Given the description of an element on the screen output the (x, y) to click on. 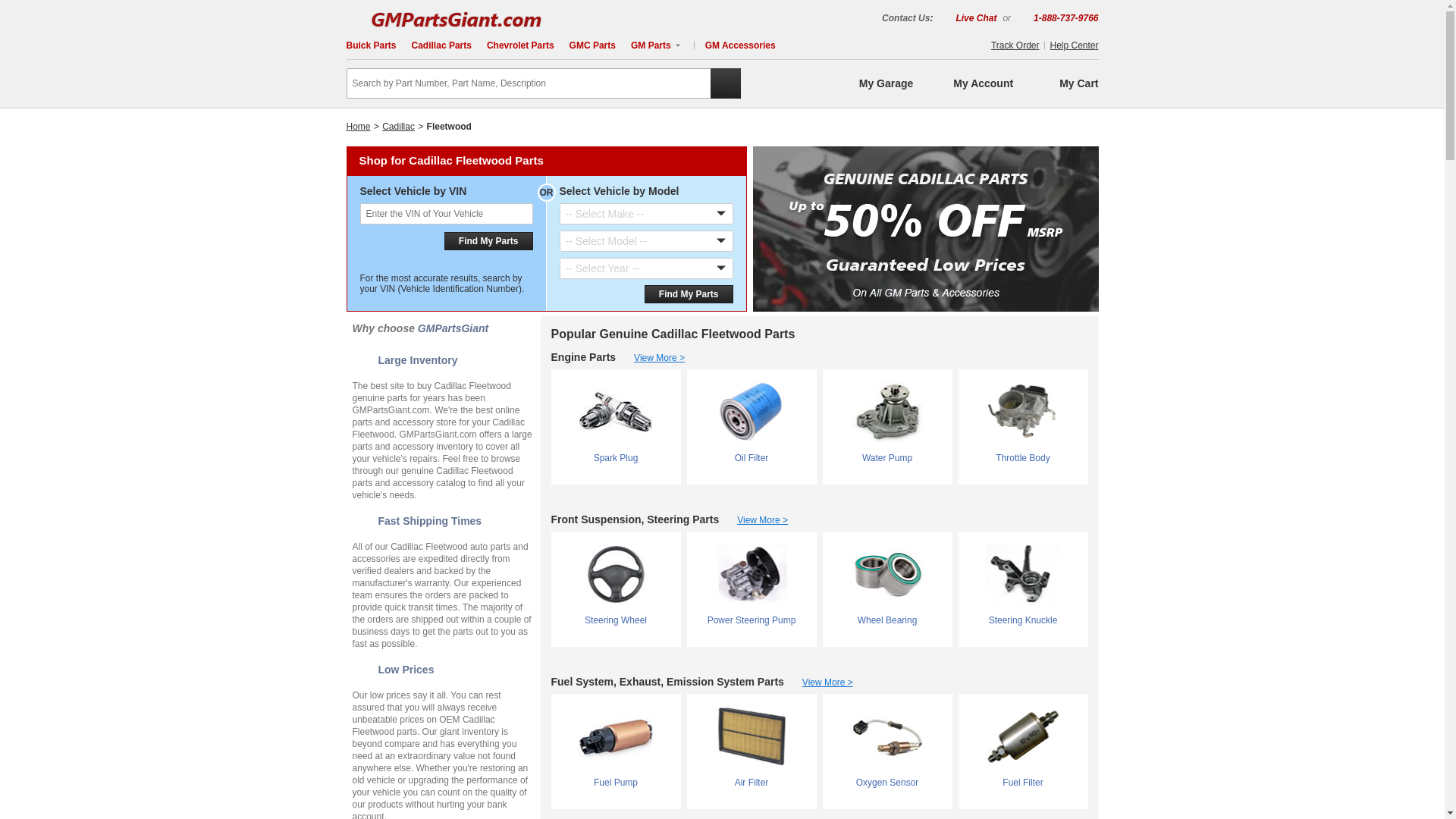
Find My Parts (488, 240)
Buick Parts (371, 45)
GM Accessories (740, 45)
GM Accessories (740, 45)
Home (357, 126)
GMC Parts (592, 45)
Find My Parts (689, 294)
Chevrolet Parts (520, 45)
1-888-737-9766 (1055, 18)
Water Pump (886, 423)
